Given the description of an element on the screen output the (x, y) to click on. 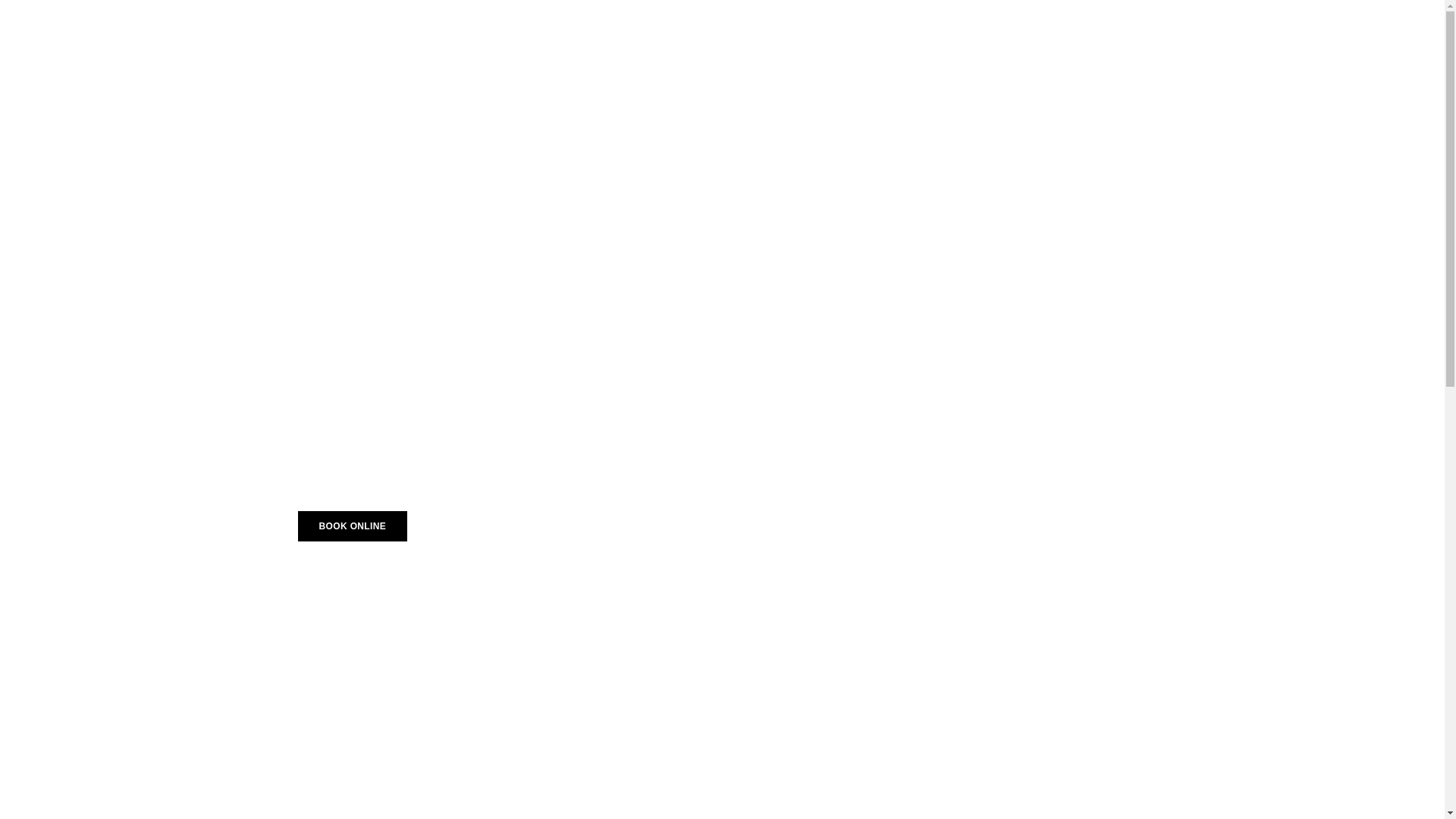
BOOK ONLINE Element type: text (352, 526)
